Given the description of an element on the screen output the (x, y) to click on. 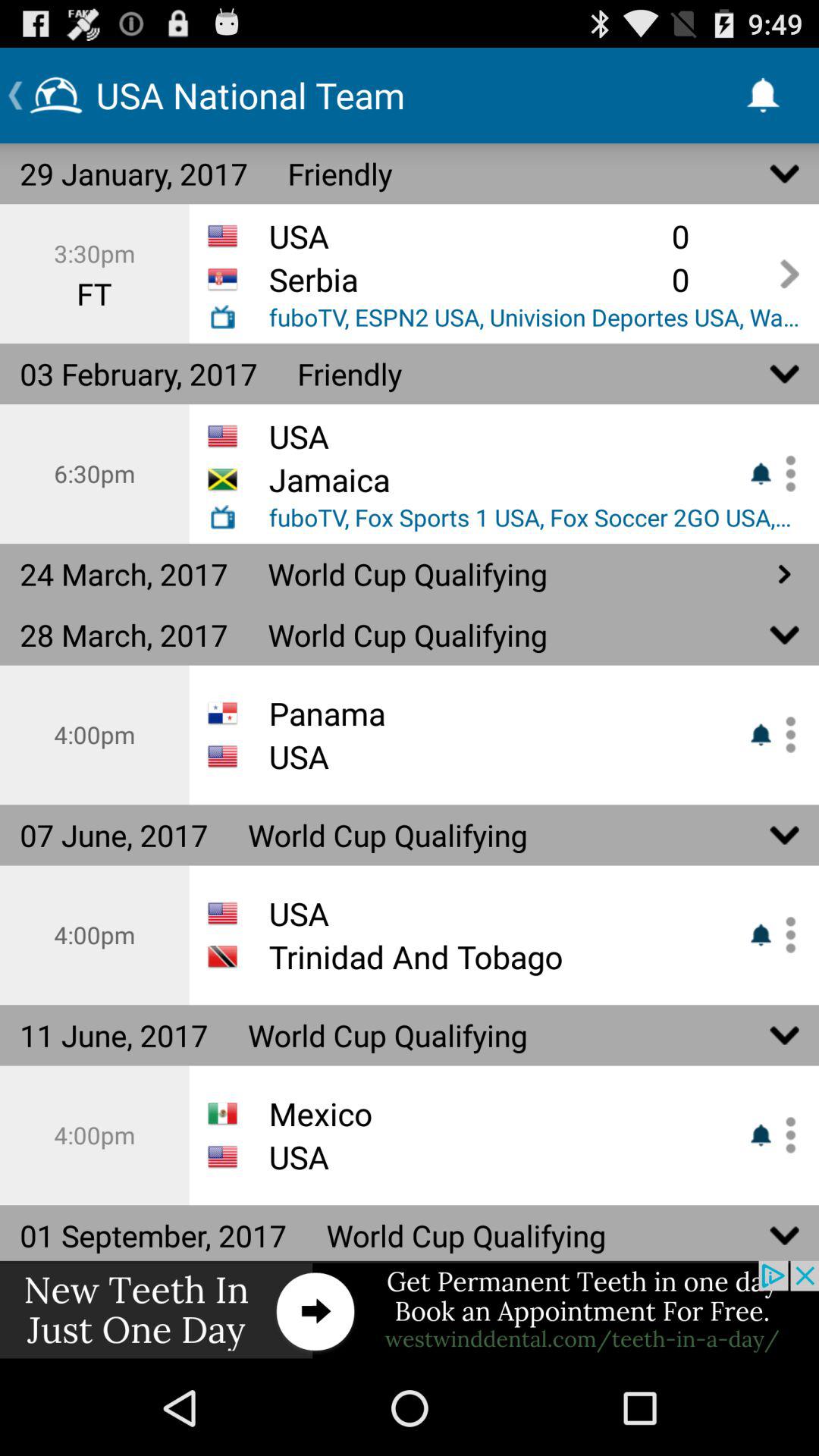
shows option icon (785, 734)
